Given the description of an element on the screen output the (x, y) to click on. 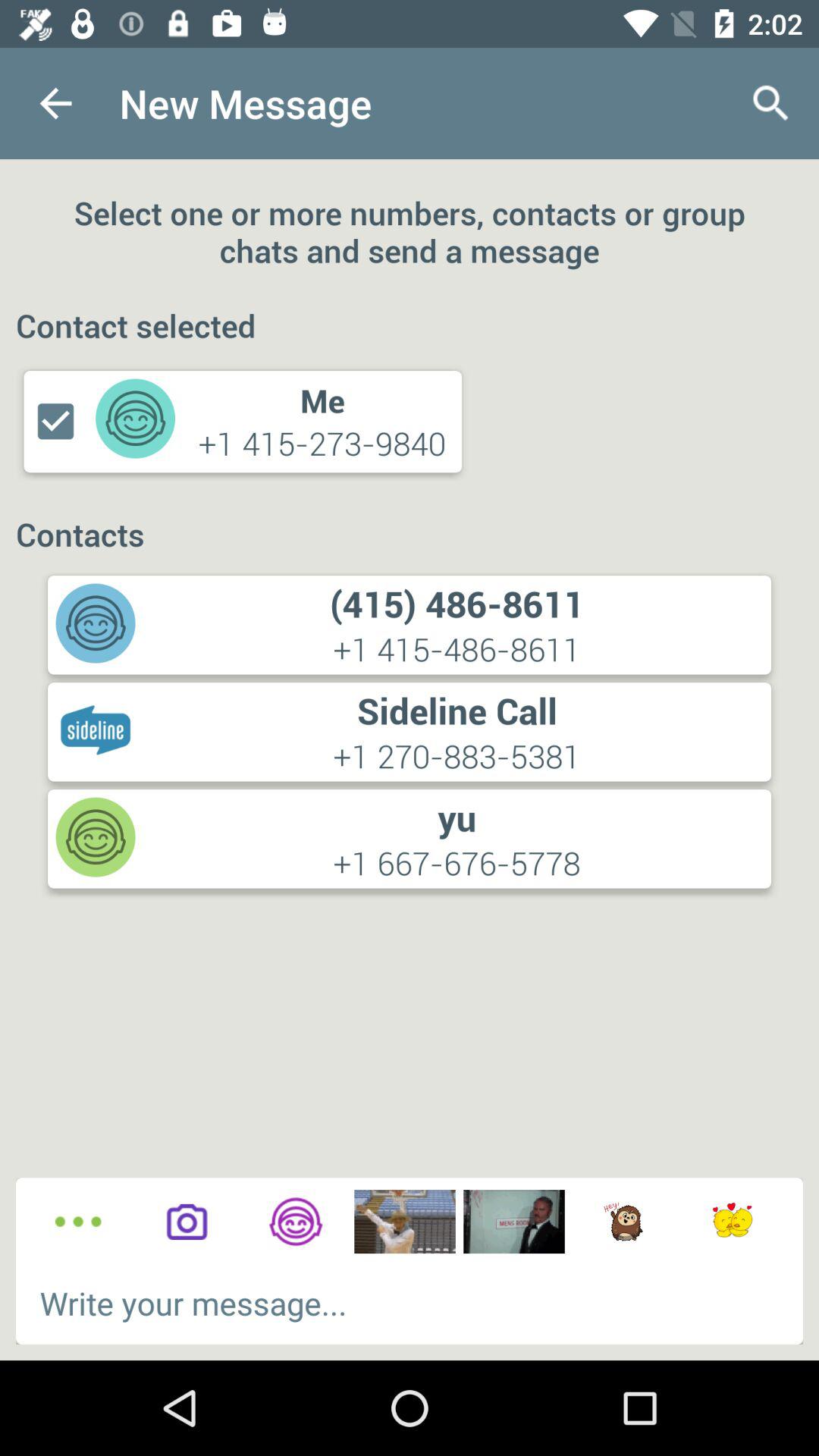
contacts (295, 1221)
